Given the description of an element on the screen output the (x, y) to click on. 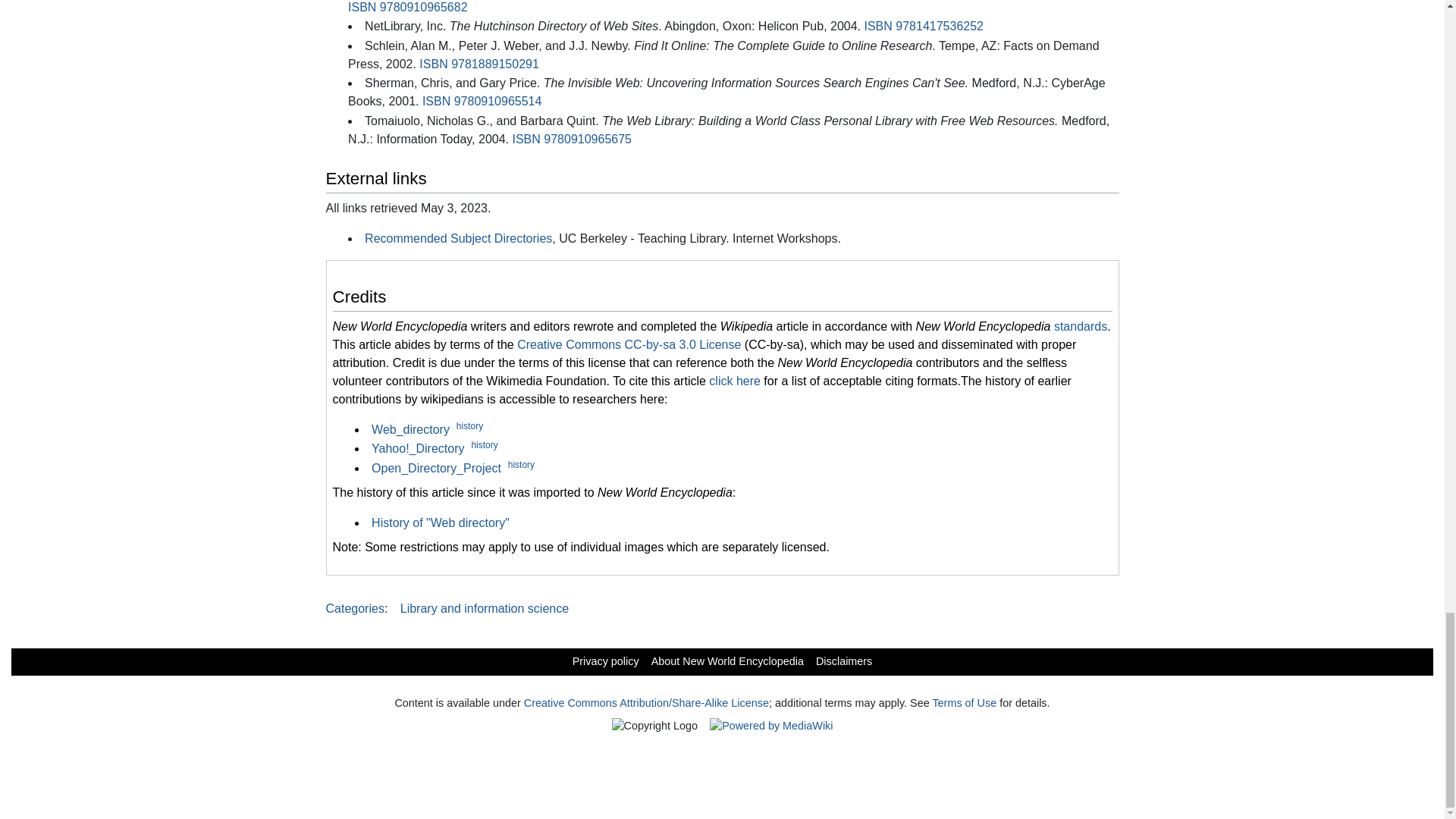
Special:Categories (355, 608)
New World Encyclopedia:About (726, 661)
Category:Library and information science (484, 608)
New World Encyclopedia:Privacy policy (605, 661)
New World Encyclopedia:Creative Commons CC-by-sa 3.0 (628, 344)
Help:Writers Manual (1080, 326)
